Given the description of an element on the screen output the (x, y) to click on. 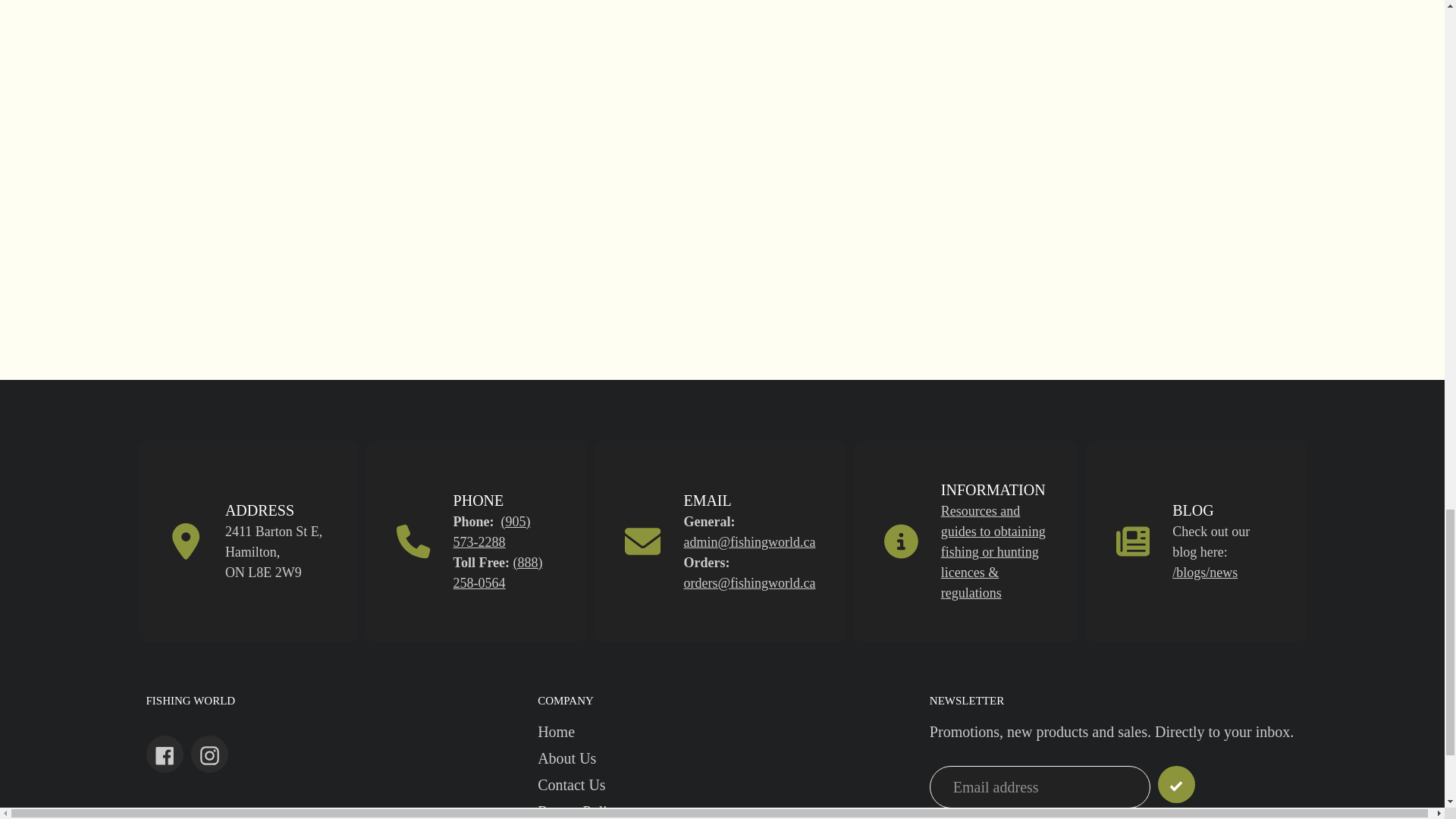
Information (992, 551)
Blog (1204, 572)
